Given the description of an element on the screen output the (x, y) to click on. 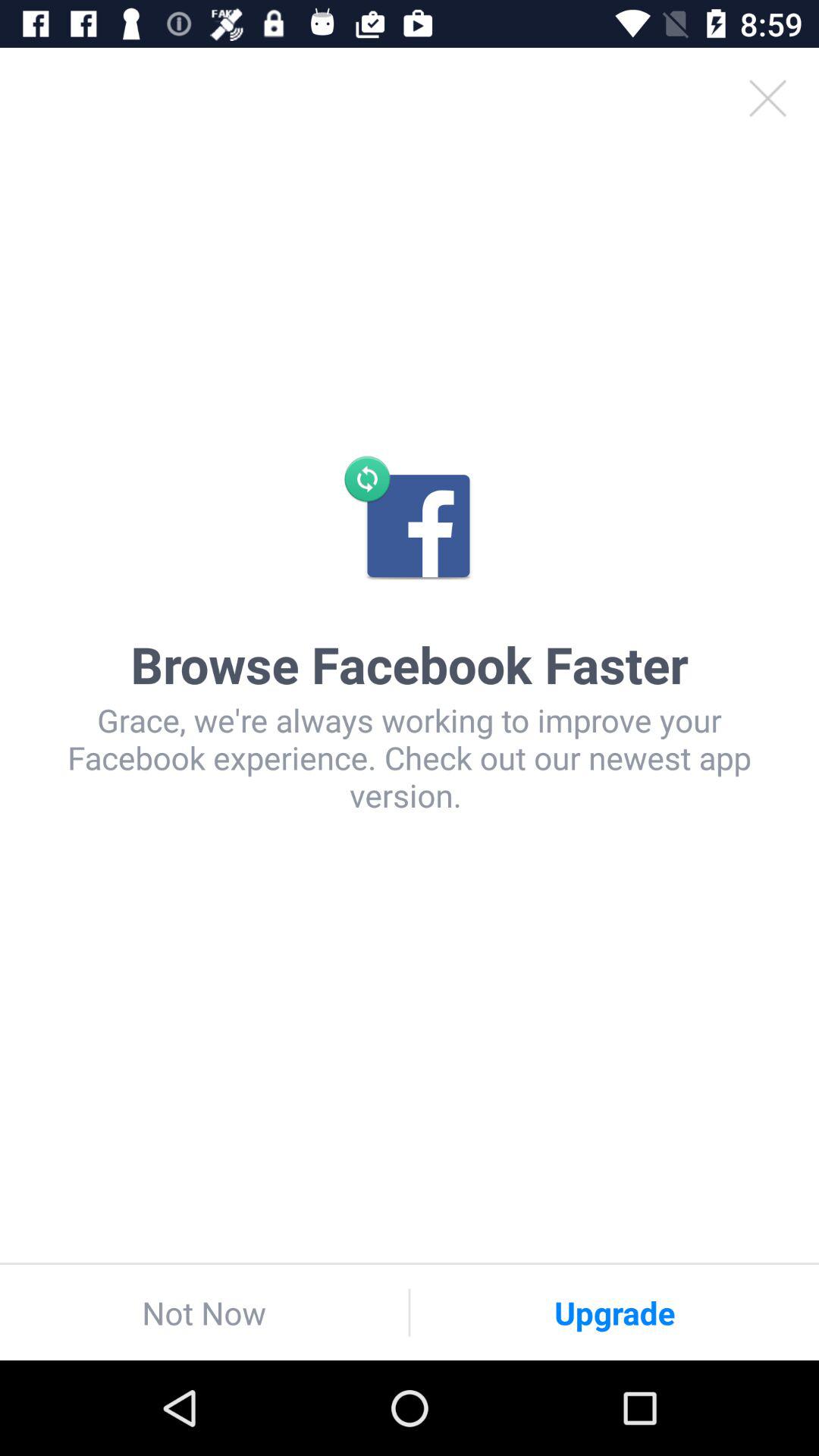
open the icon at the bottom left corner (204, 1312)
